Given the description of an element on the screen output the (x, y) to click on. 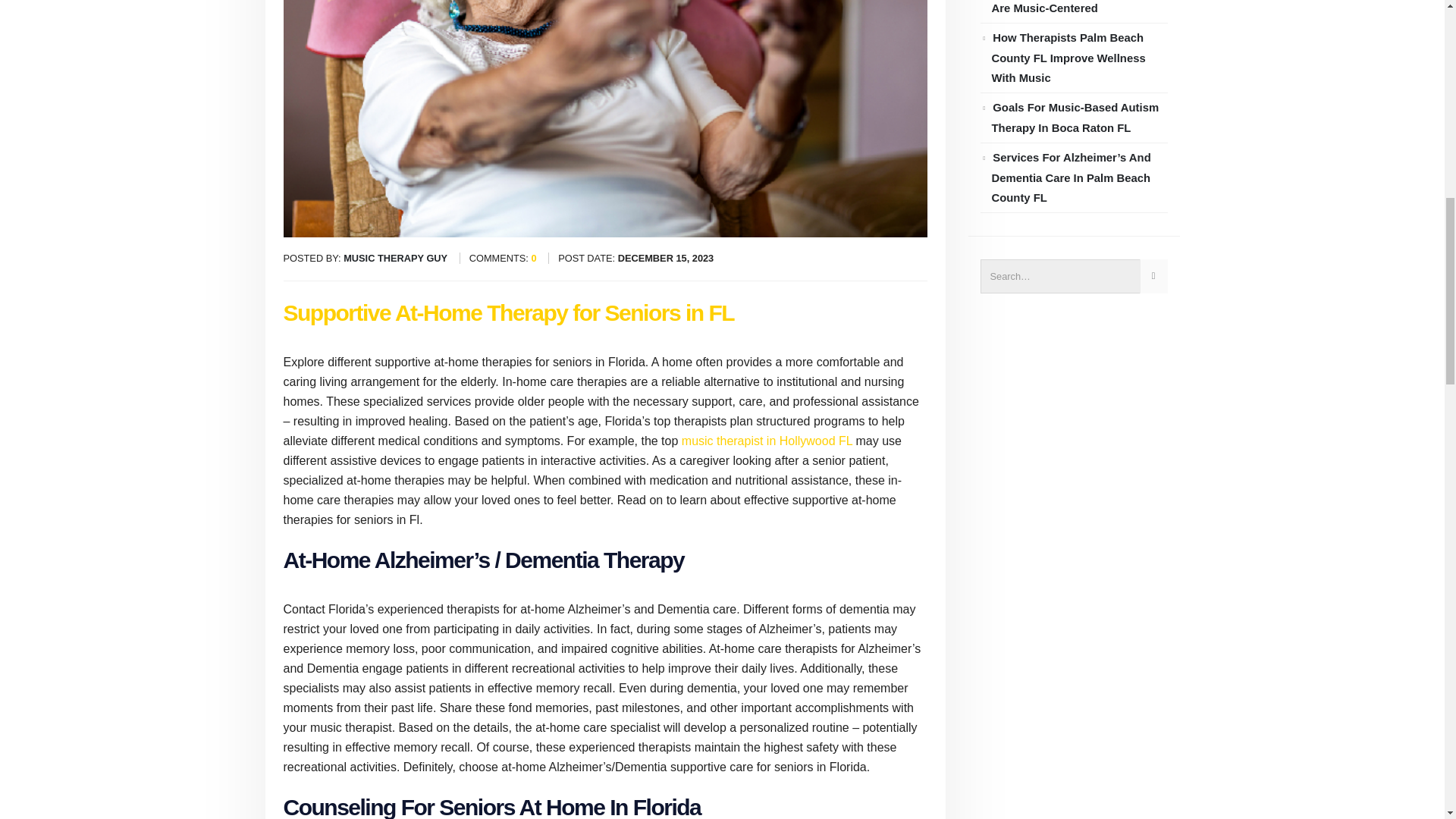
music therapist in Hollywood FL (766, 440)
Goals For Music-Based Autism Therapy In Boca Raton FL (1074, 117)
